Given the description of an element on the screen output the (x, y) to click on. 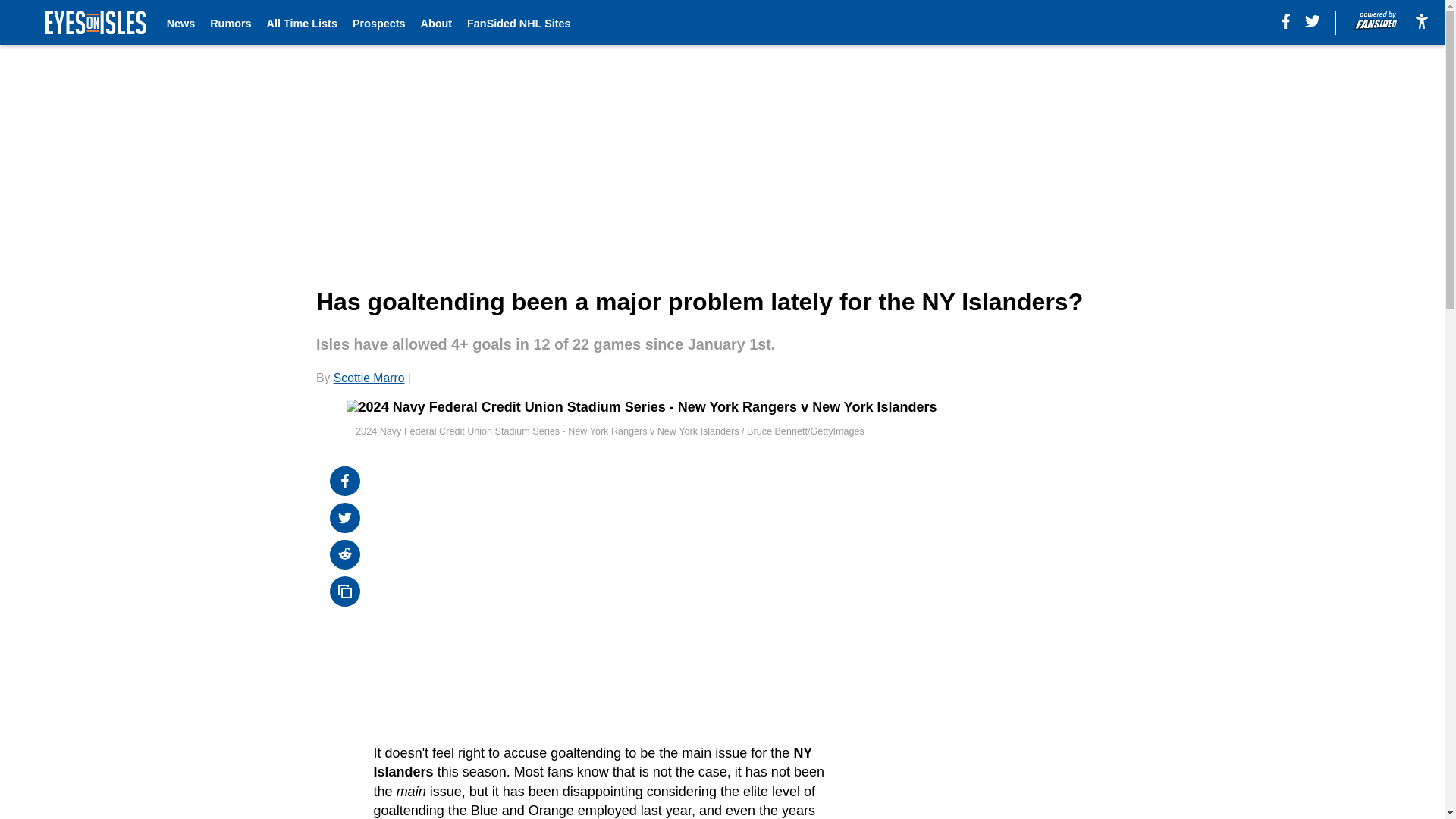
FanSided NHL Sites (518, 23)
Rumors (229, 23)
Prospects (379, 23)
News (181, 23)
All Time Lists (301, 23)
About (435, 23)
Scottie Marro (368, 377)
